Given the description of an element on the screen output the (x, y) to click on. 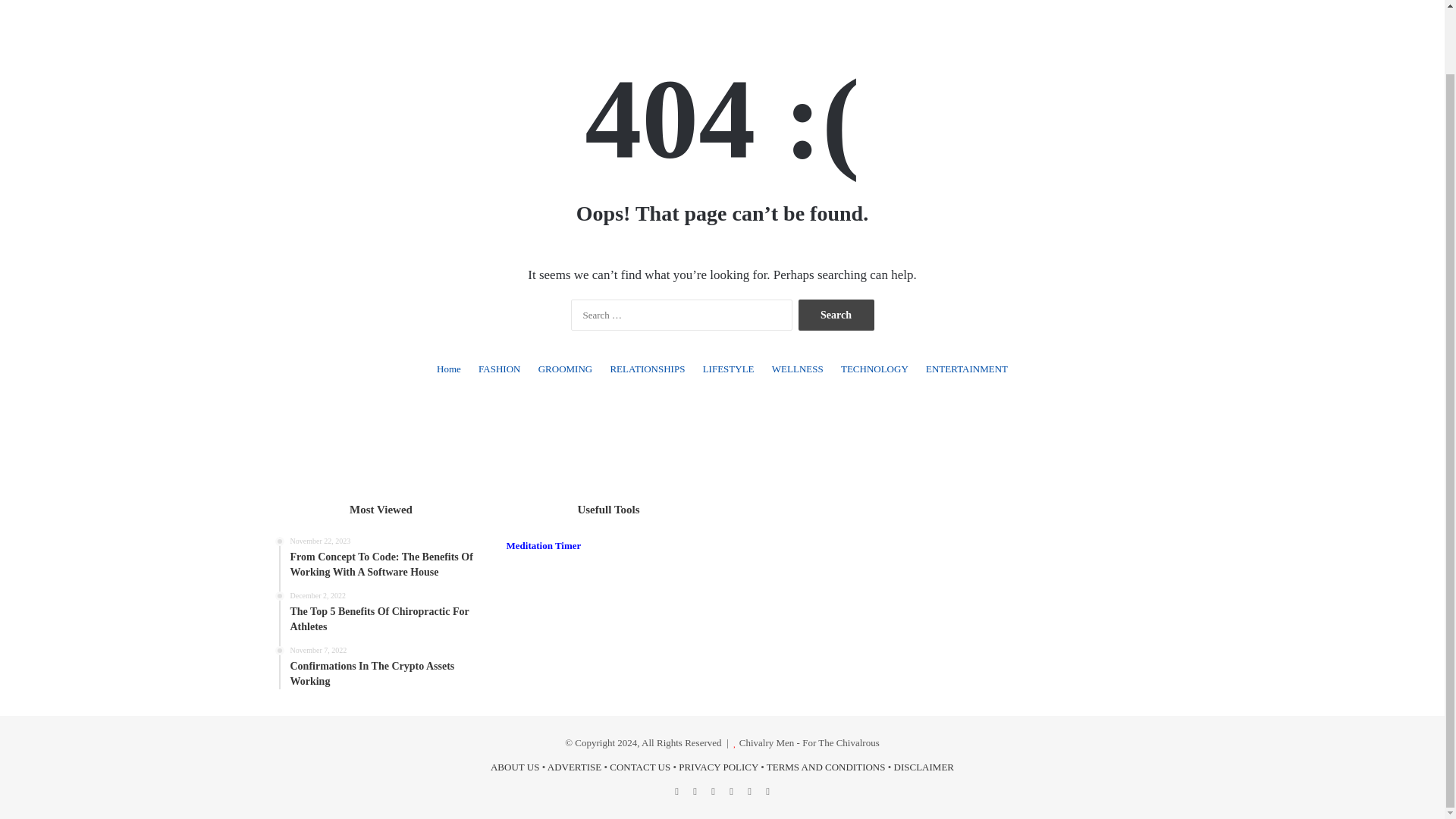
Facebook (675, 791)
X (694, 791)
WELLNESS (797, 368)
PRIVACY POLICY (718, 767)
Home (448, 368)
DISCLAIMER (923, 767)
ABOUT US (514, 767)
RSS (767, 791)
YouTube (730, 791)
